Given the description of an element on the screen output the (x, y) to click on. 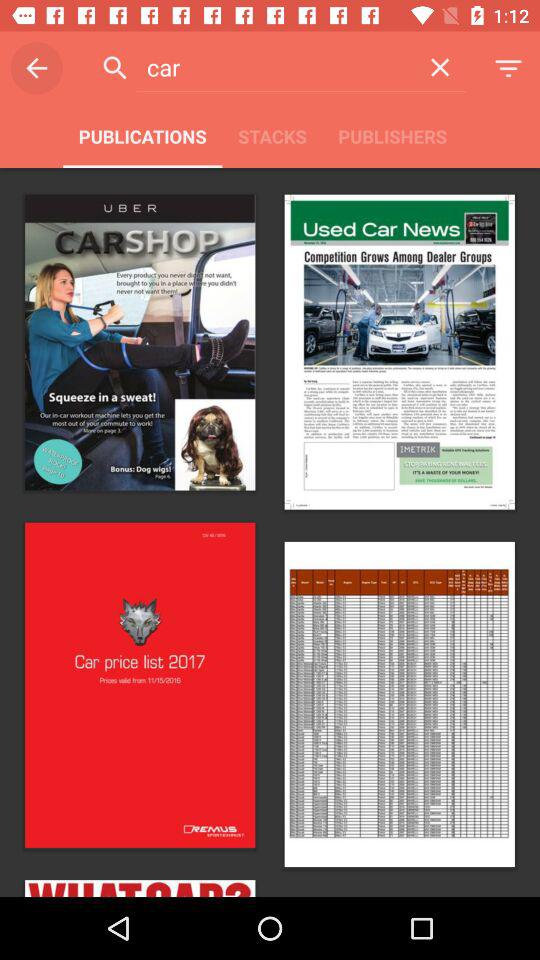
press the item to the right of the car item (439, 67)
